Given the description of an element on the screen output the (x, y) to click on. 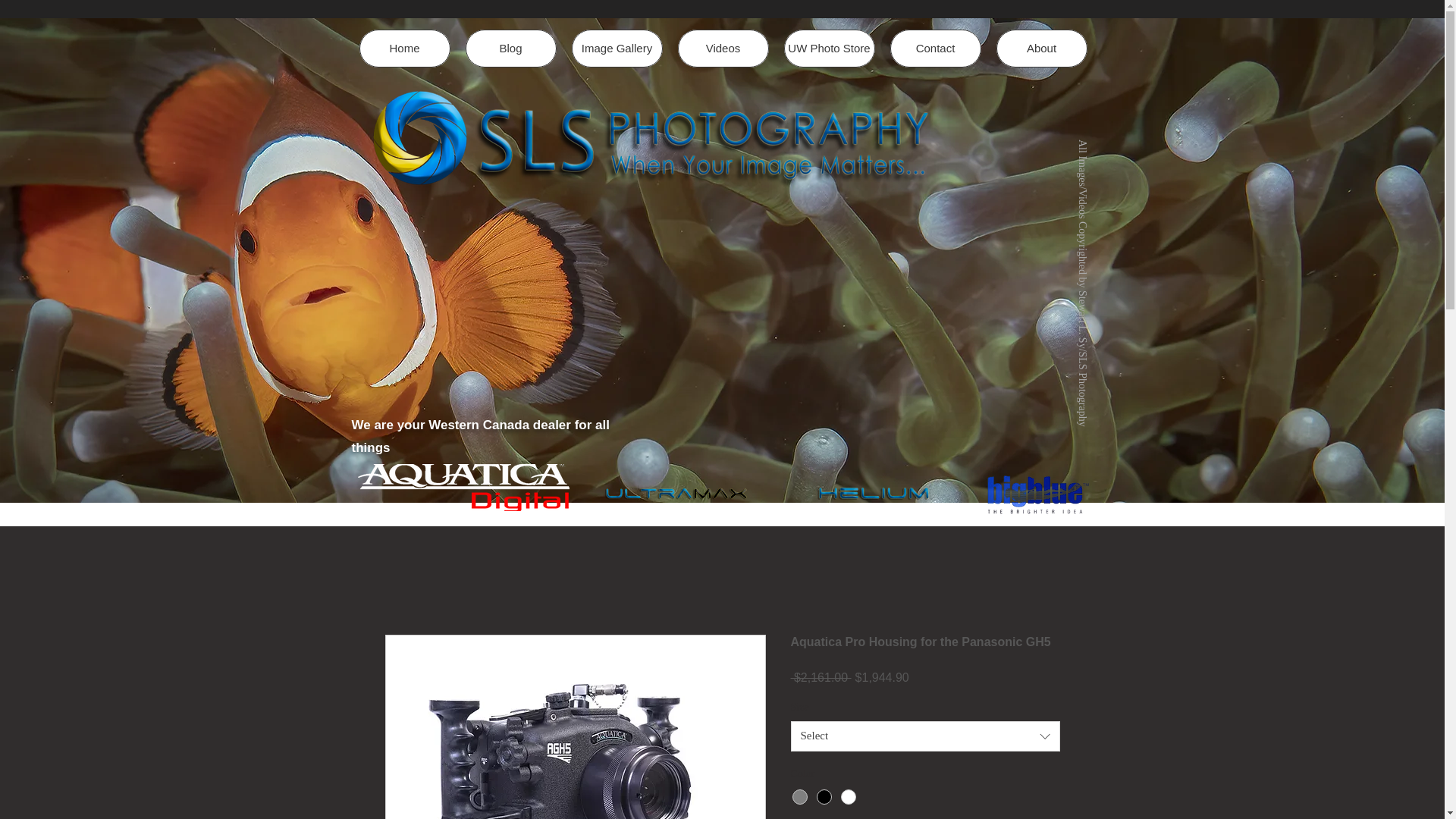
Home (404, 48)
Image Gallery (617, 48)
Contact (935, 48)
Blog (510, 48)
Videos (723, 48)
UW Photo Store (829, 48)
Select (924, 736)
About (1041, 48)
